Given the description of an element on the screen output the (x, y) to click on. 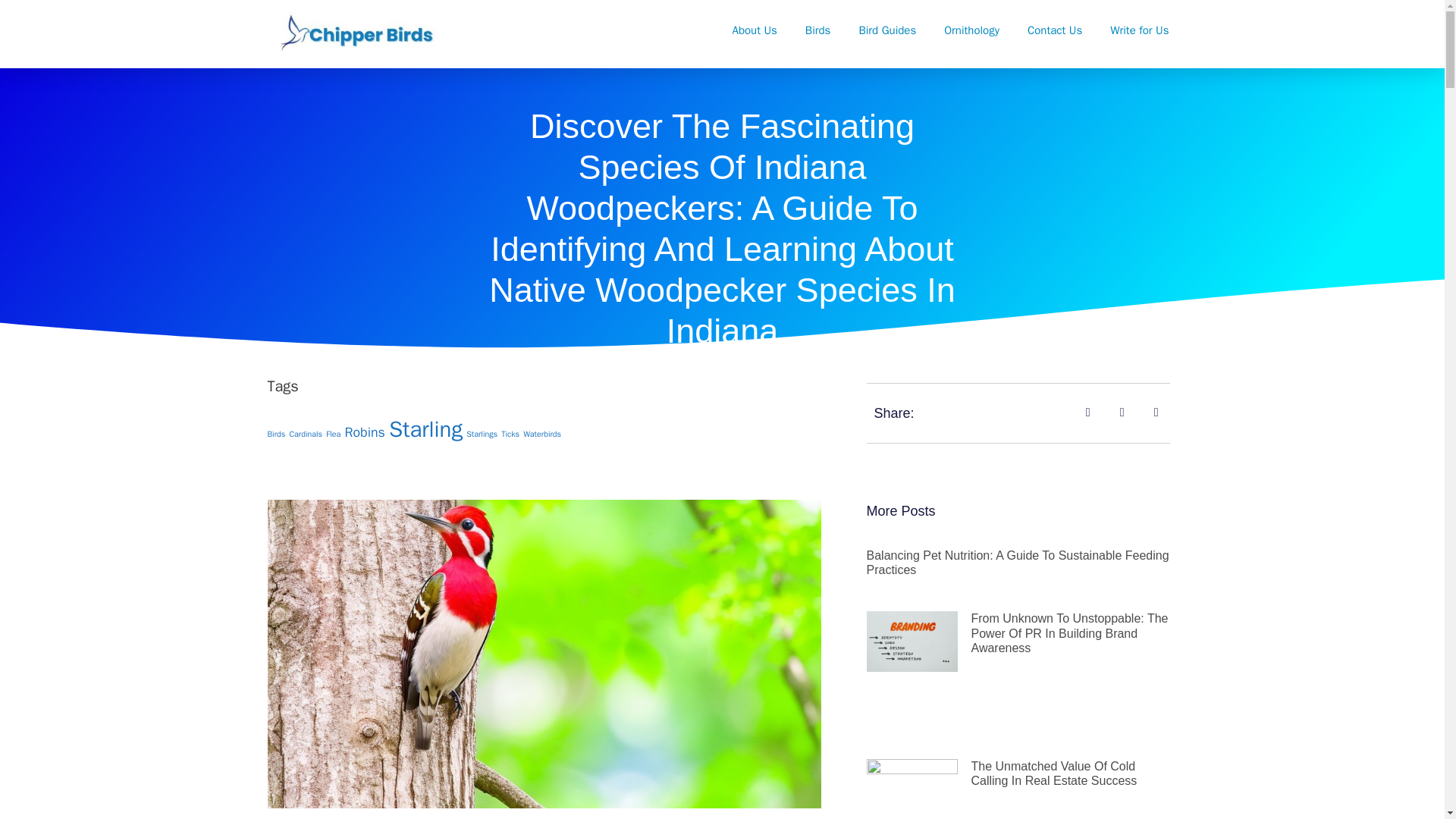
About Us (754, 29)
Ornithology (971, 29)
Robins (363, 432)
Starlings (481, 433)
Ticks (509, 433)
Birds (818, 29)
Contact Us (1054, 29)
Flea (333, 433)
Waterbirds (541, 433)
Write for Us (1139, 29)
